Given the description of an element on the screen output the (x, y) to click on. 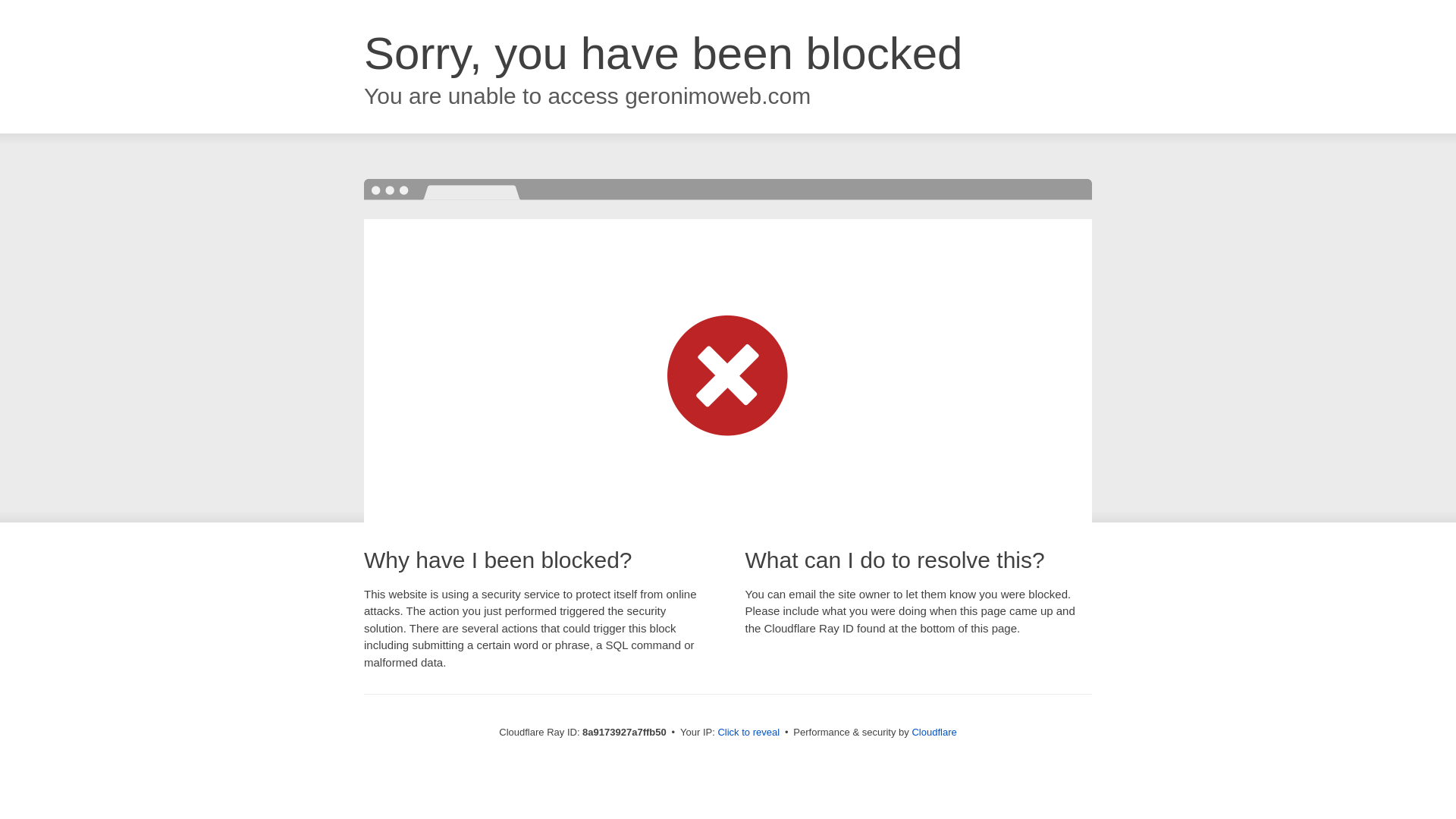
Click to reveal (747, 732)
Cloudflare (933, 731)
